Given the description of an element on the screen output the (x, y) to click on. 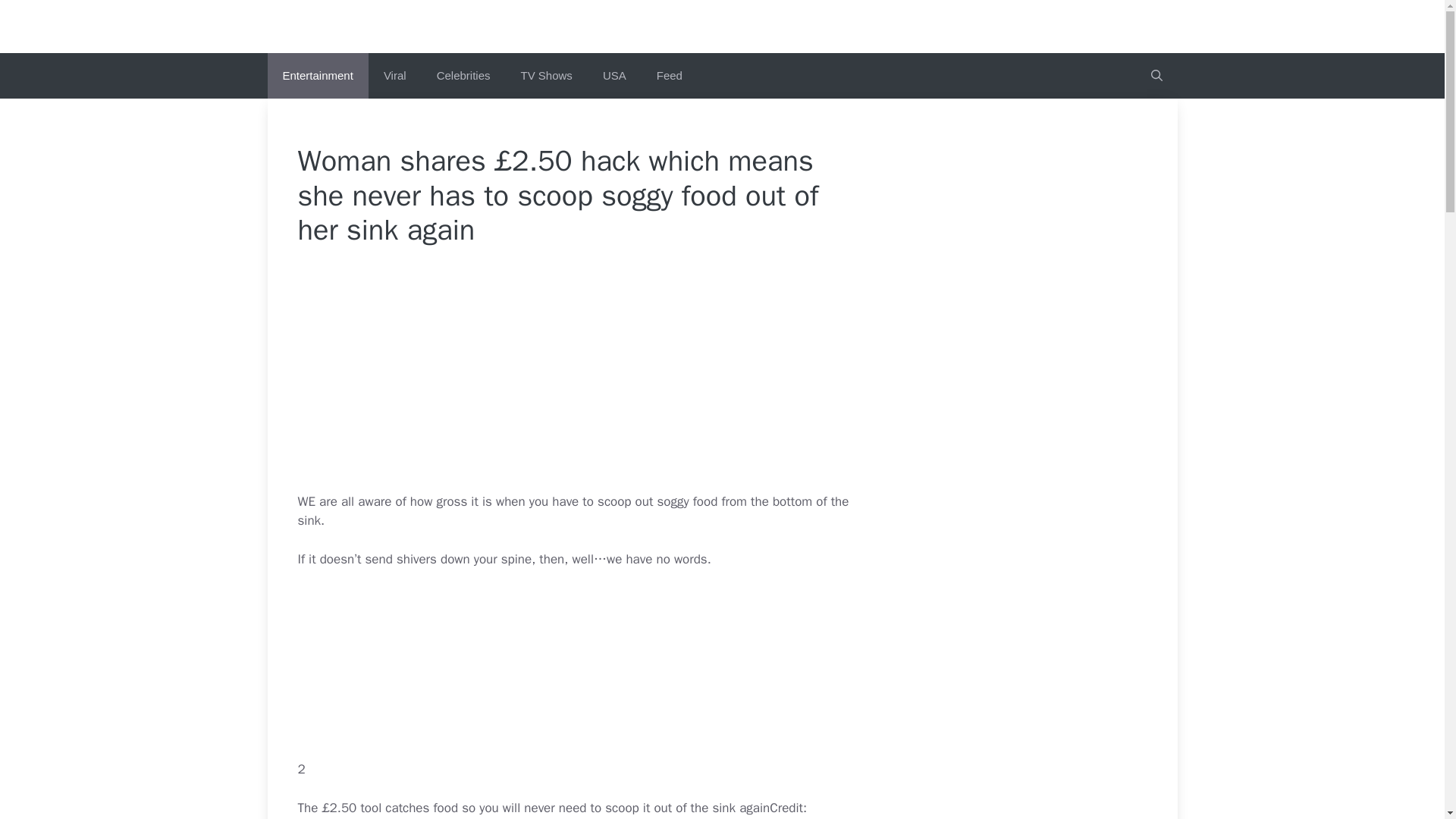
USA (615, 75)
District Chronicles (721, 25)
TV Shows (546, 75)
Feed (669, 75)
Viral (395, 75)
Entertainment (317, 75)
Celebrities (463, 75)
